Given the description of an element on the screen output the (x, y) to click on. 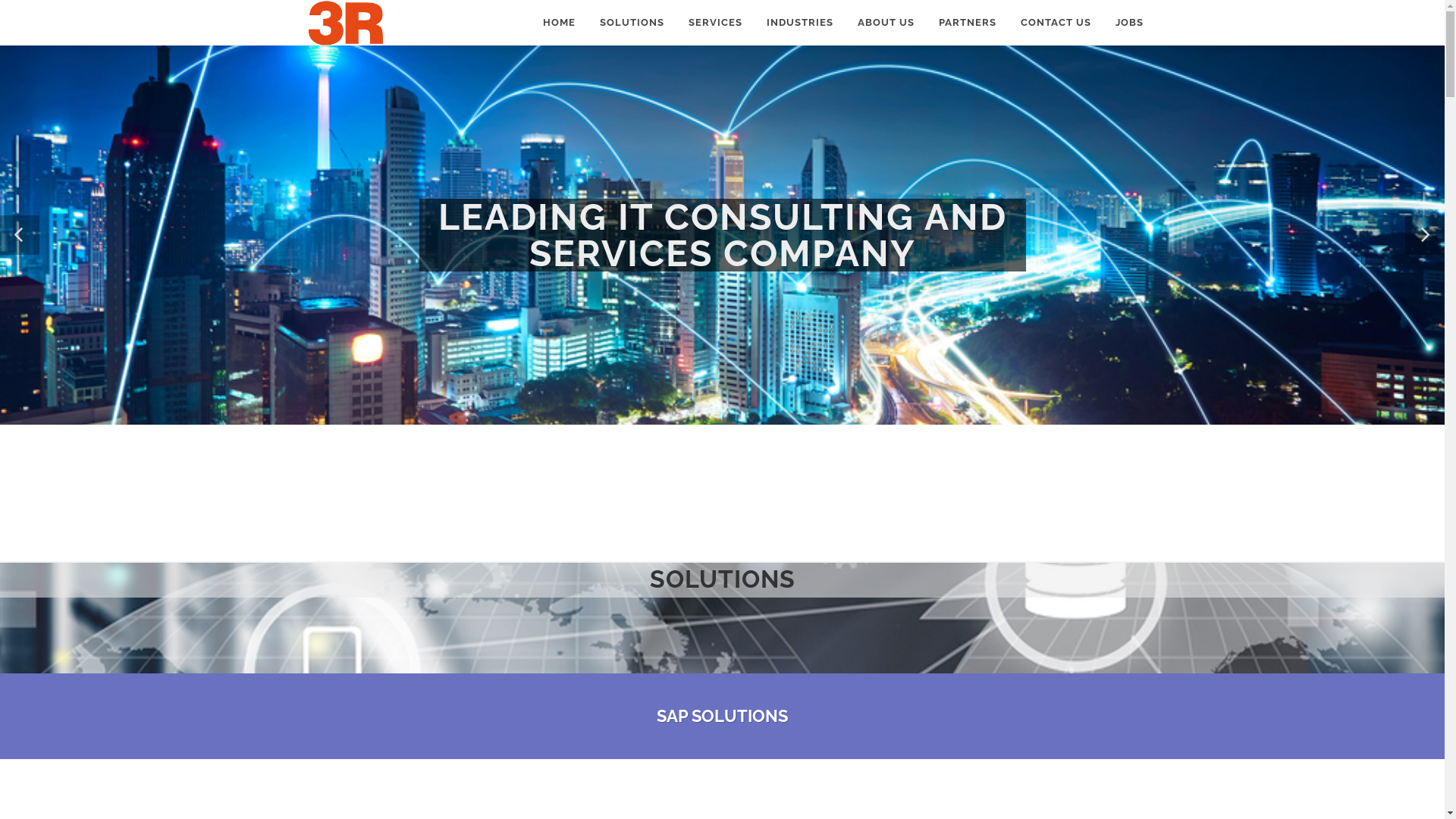
SERVICES Element type: text (714, 22)
CONTACT US Element type: text (1054, 22)
SOLUTIONS Element type: text (631, 22)
PARTNERS Element type: text (966, 22)
LEADING IT CONSULTING AND SERVICES COMPANY Element type: text (721, 234)
ABOUT US Element type: text (885, 22)
INDUSTRIES Element type: text (799, 22)
HOME Element type: text (558, 22)
JOBS Element type: text (1129, 22)
